Given the description of an element on the screen output the (x, y) to click on. 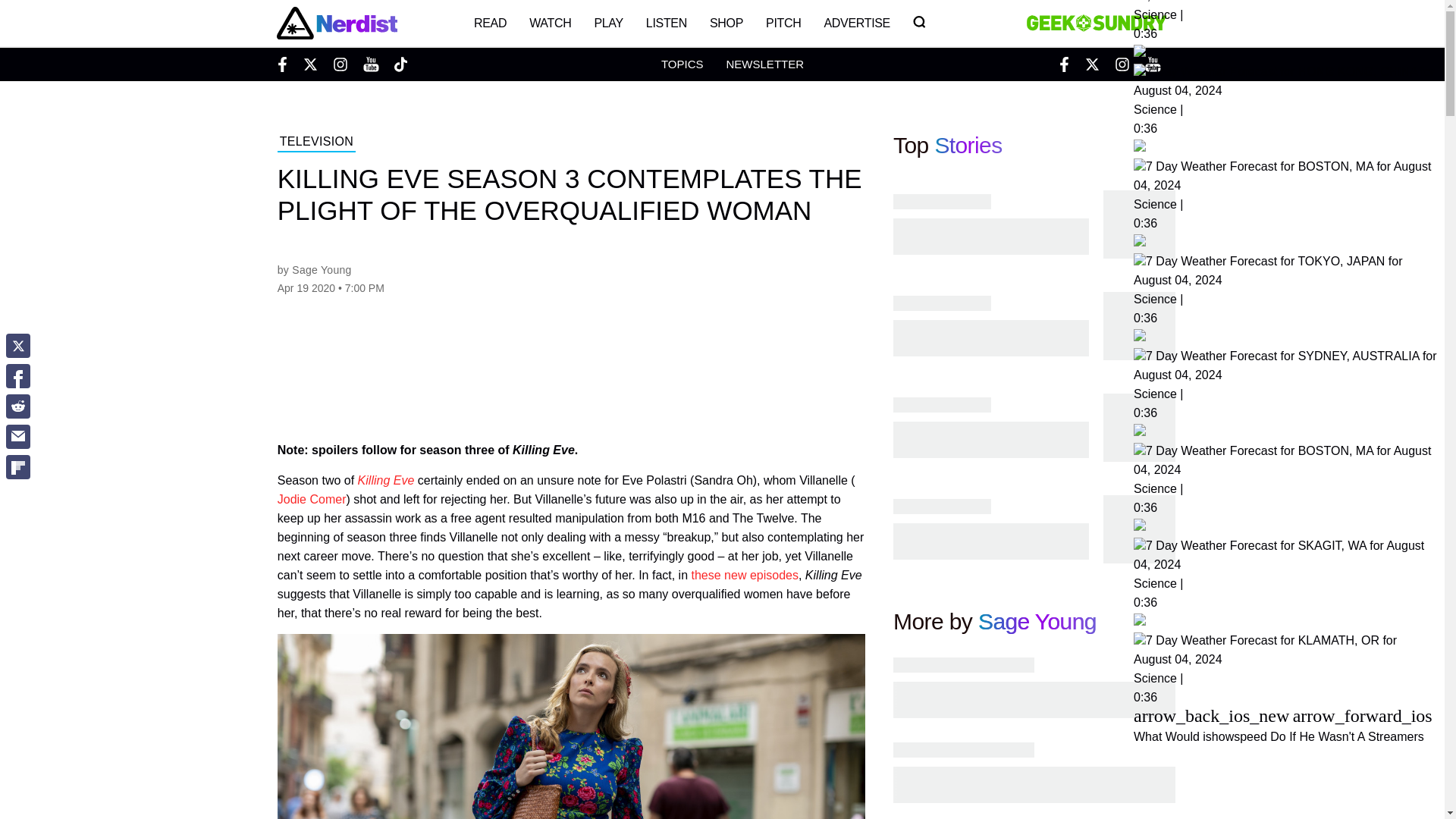
TOPICS (681, 63)
Nerdist (336, 23)
Twitter Nerdist (309, 63)
Killing Eve (386, 480)
Instagram Nerdist (339, 63)
Newsletter (764, 63)
WATCH (550, 22)
PLAY (607, 22)
TELEVISION (316, 143)
LISTEN (666, 22)
PITCH (783, 22)
PITCH (783, 22)
ADVERTISE (856, 22)
WATCH (550, 22)
READ (490, 22)
